Given the description of an element on the screen output the (x, y) to click on. 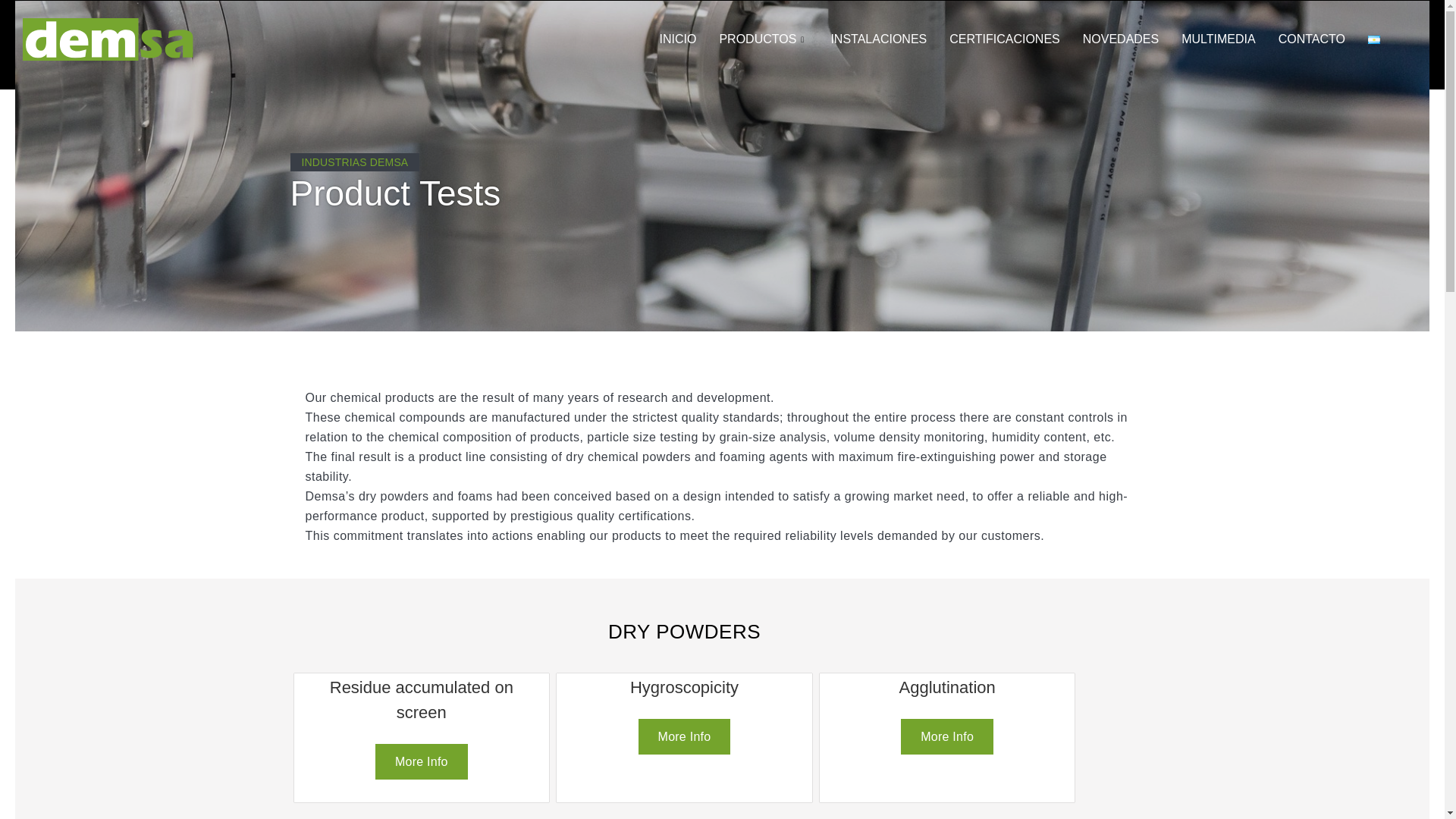
CONTACTO (1311, 39)
More Info (421, 761)
More Info (684, 734)
CERTIFICACIONES (1004, 39)
More Info (684, 736)
More Info (946, 736)
INDUSTRIAS DEMSA (354, 162)
Hygroscopicity (684, 697)
More Info (421, 759)
Product Tests (548, 194)
NOVEDADES (1120, 39)
Agglutination (946, 697)
DRY POWDERS (683, 637)
MULTIMEDIA (1218, 39)
Residue accumulated on screen (421, 710)
